Given the description of an element on the screen output the (x, y) to click on. 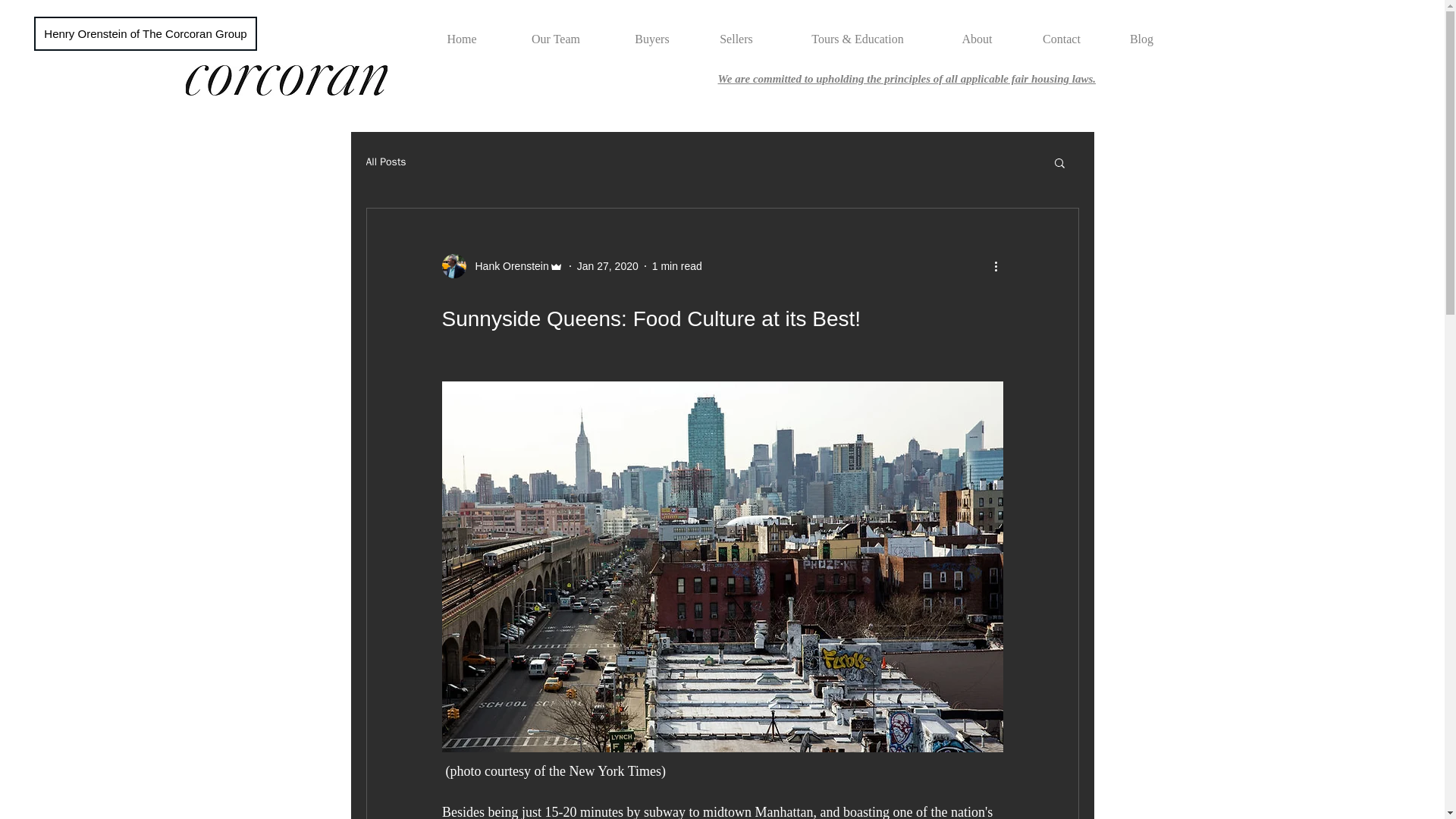
Contact (1061, 39)
Hank Orenstein (501, 265)
About (976, 39)
Our Team (555, 39)
Buyers (652, 39)
Blog (1141, 39)
Home (462, 39)
1 min read (676, 265)
All Posts (385, 161)
